Given the description of an element on the screen output the (x, y) to click on. 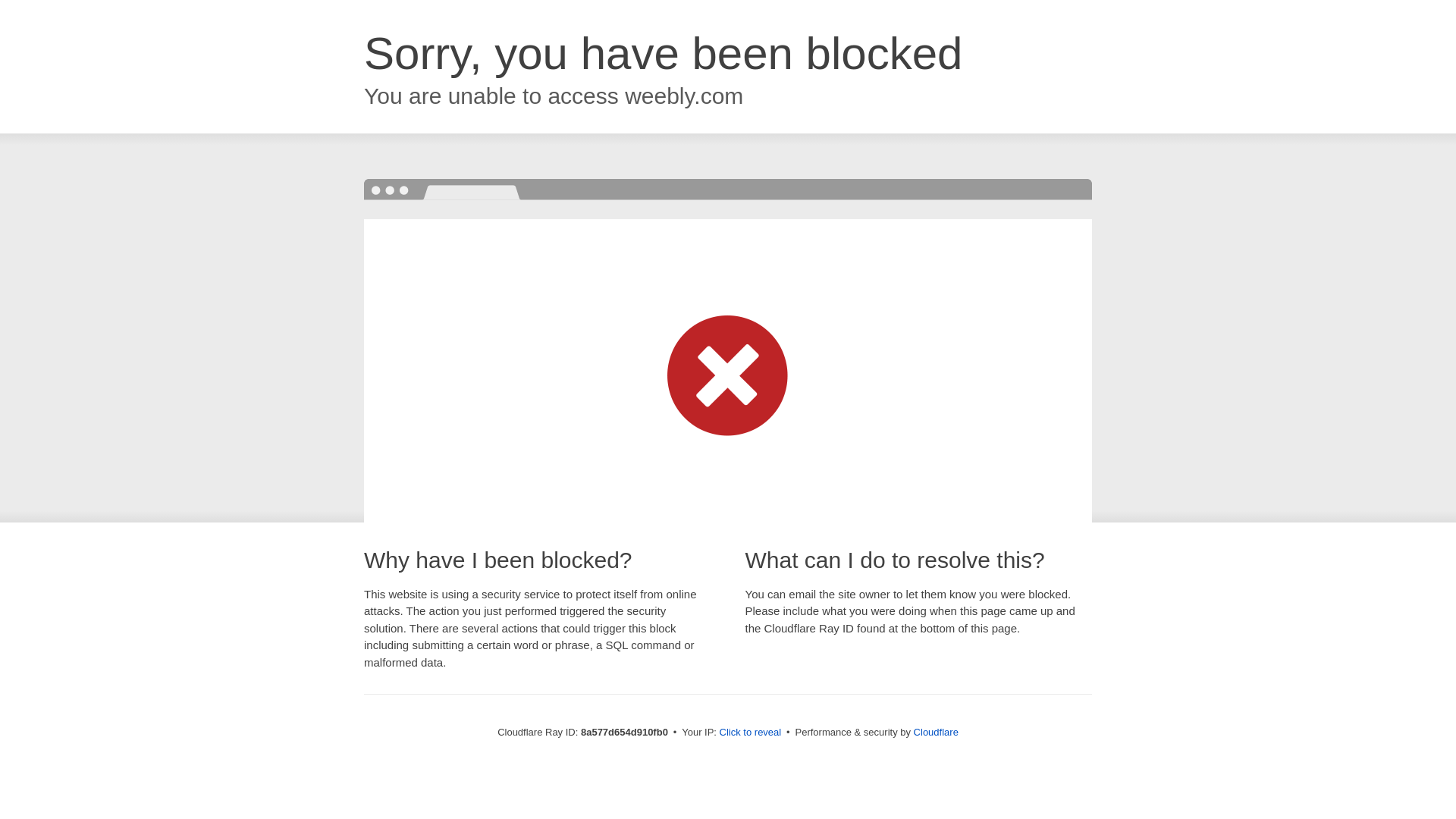
Click to reveal (750, 732)
Cloudflare (936, 731)
